Given the description of an element on the screen output the (x, y) to click on. 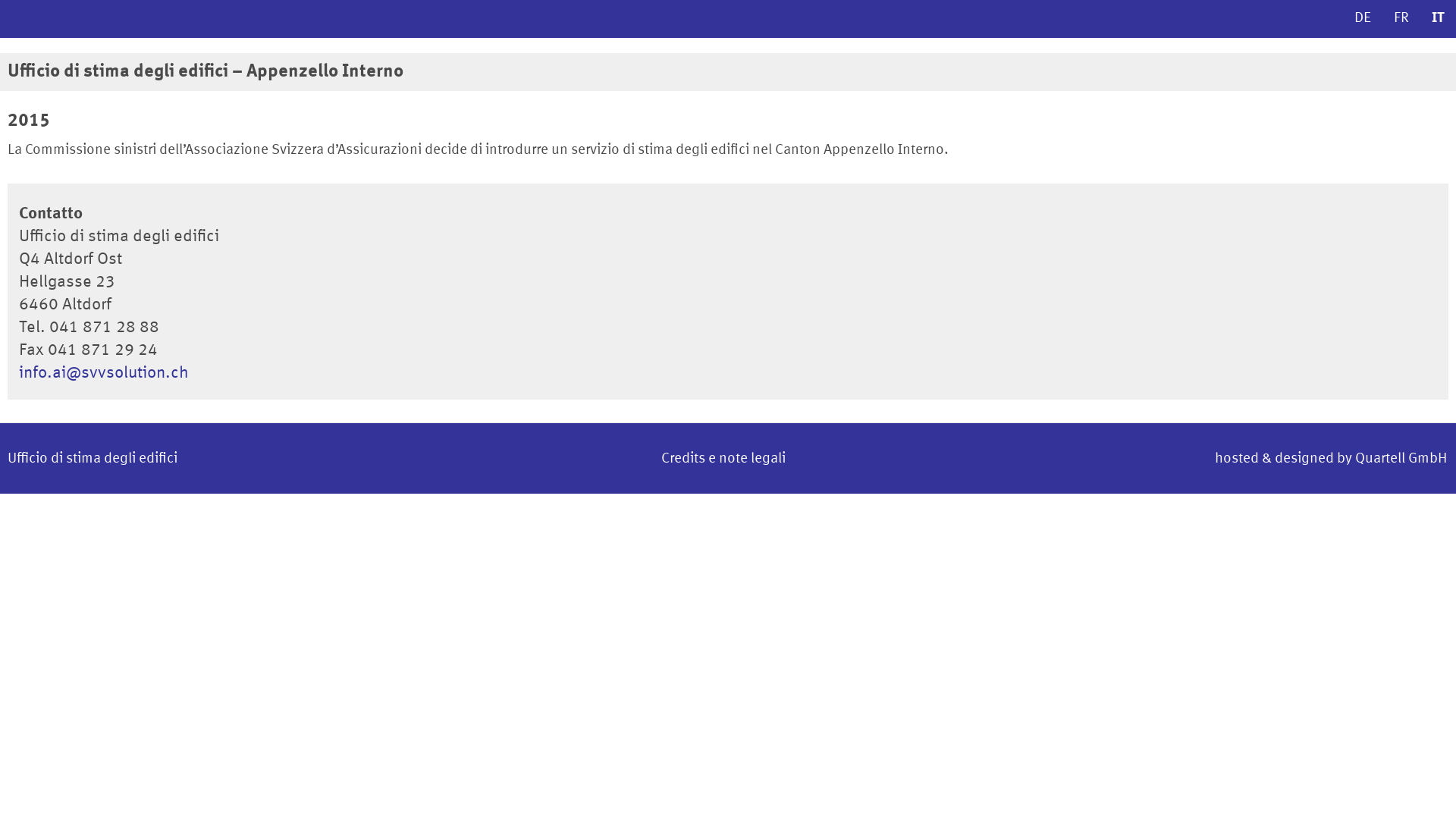
info.ai@svvsolution.ch Element type: text (103, 372)
Credits e note legali Element type: text (723, 458)
DE Element type: text (1362, 18)
FR Element type: text (1400, 18)
Quartell GmbH Element type: text (1400, 458)
IT Element type: text (1437, 18)
